Given the description of an element on the screen output the (x, y) to click on. 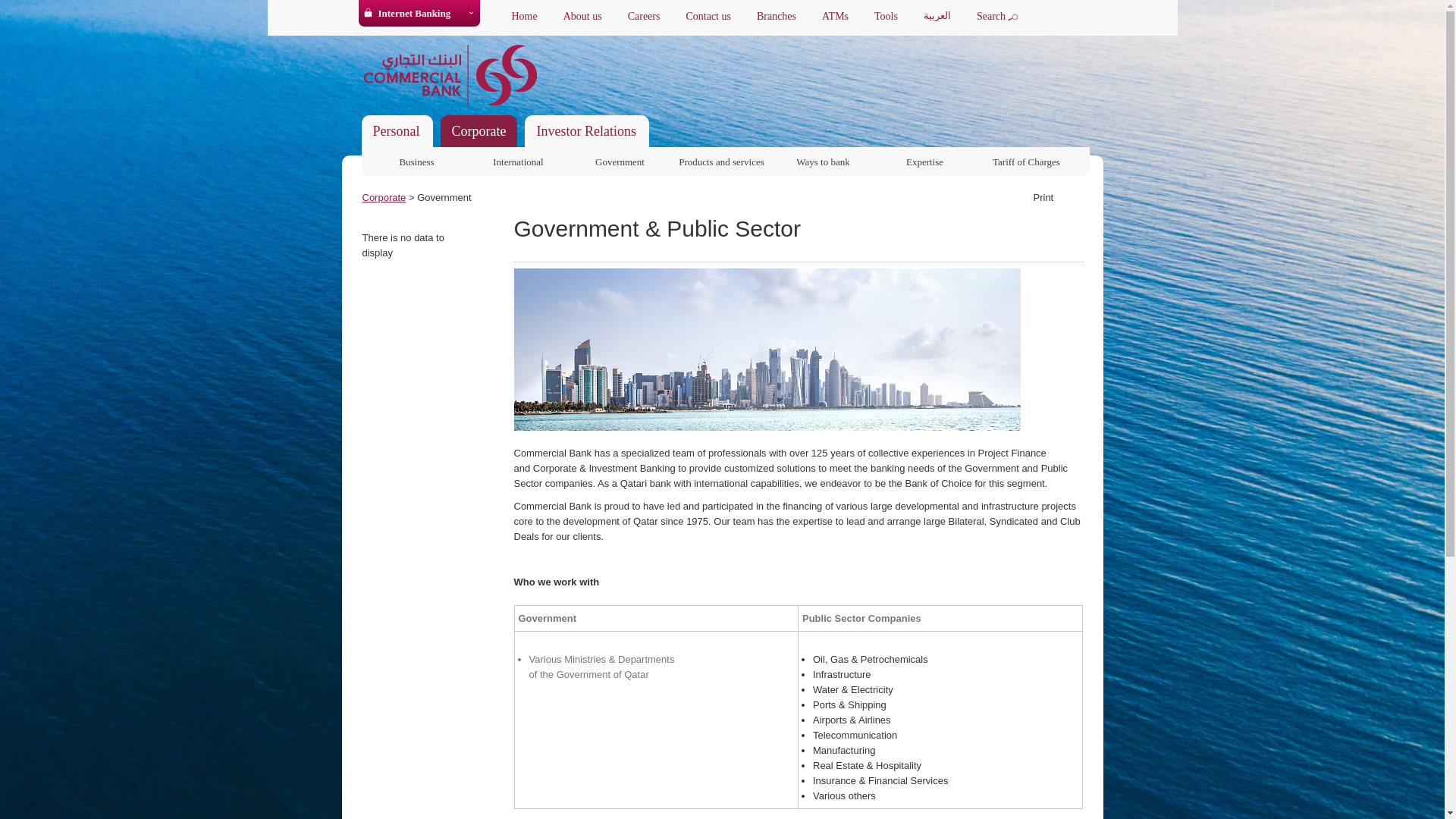
Government (619, 159)
Products and services (720, 159)
Corporate (478, 131)
Contact us (707, 16)
Home (524, 16)
Government Banking (619, 159)
Investor Relations (586, 131)
Careers (644, 16)
Internet Banking (413, 13)
International Banking (517, 159)
